Given the description of an element on the screen output the (x, y) to click on. 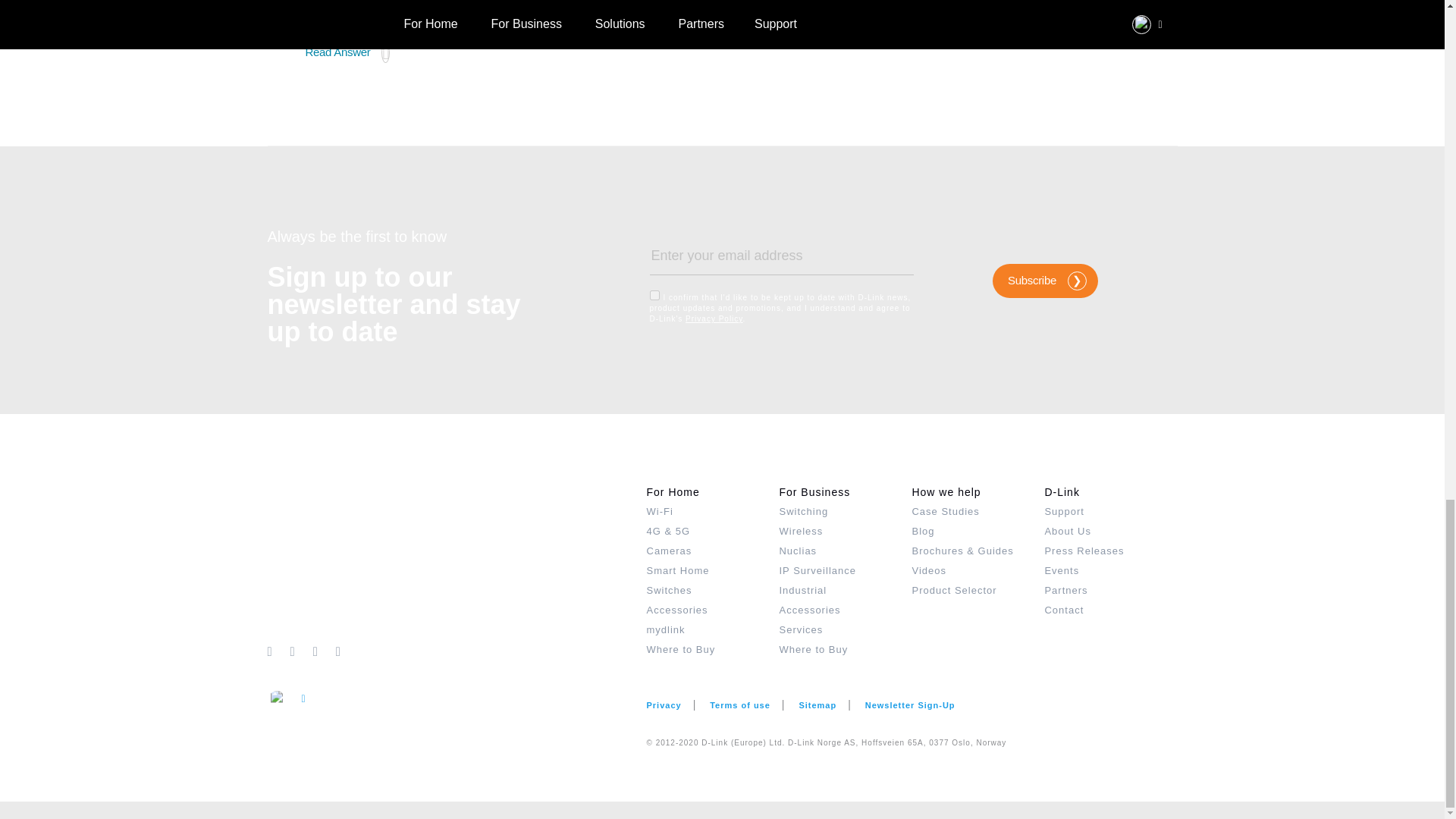
D-Link (456, 561)
True (654, 295)
